Given the description of an element on the screen output the (x, y) to click on. 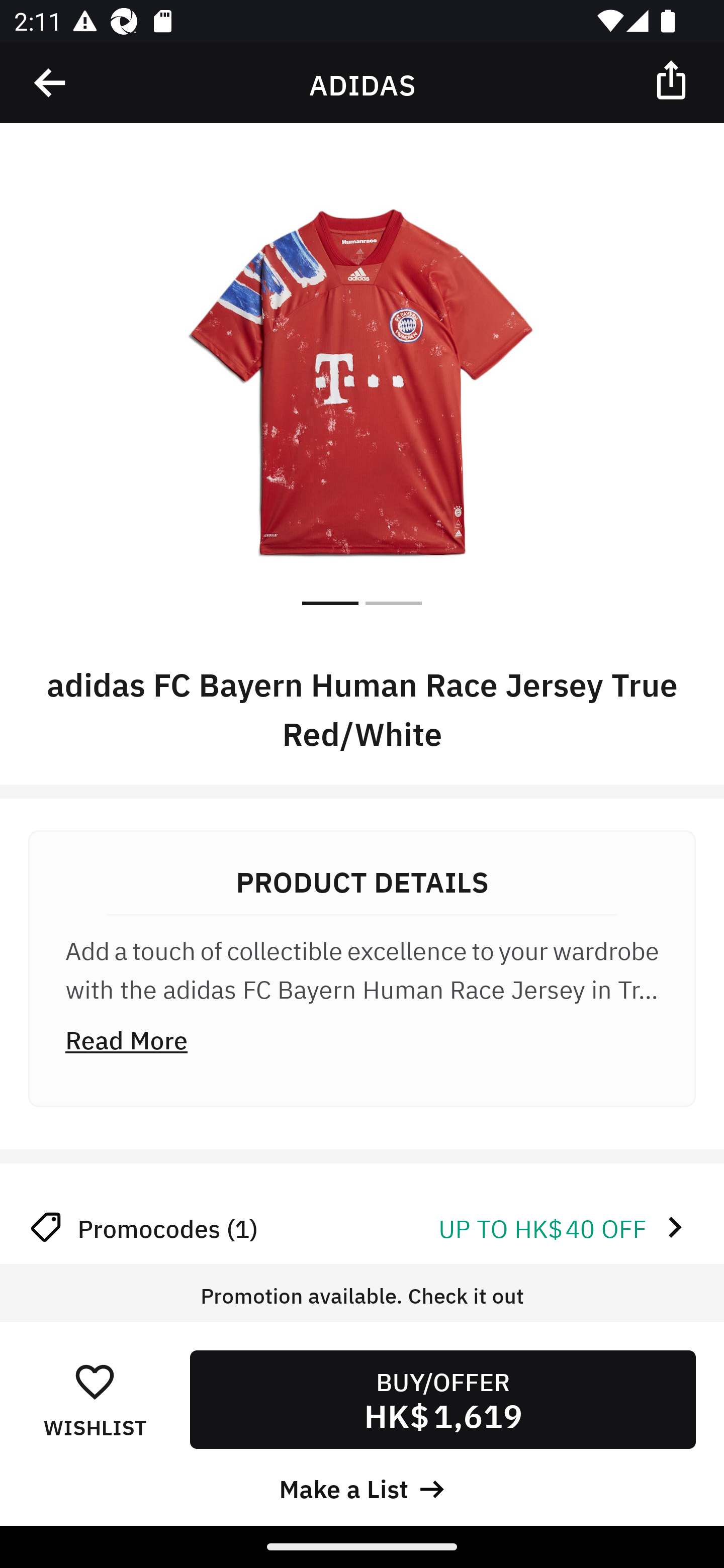
 (50, 83)
 (672, 79)
Promocodes (1) UP TO HK$ 40 OFF  (361, 1226)
BUY/OFFER HK$ 1,619 (442, 1399)
󰋕 (94, 1380)
Make a List (361, 1486)
